Given the description of an element on the screen output the (x, y) to click on. 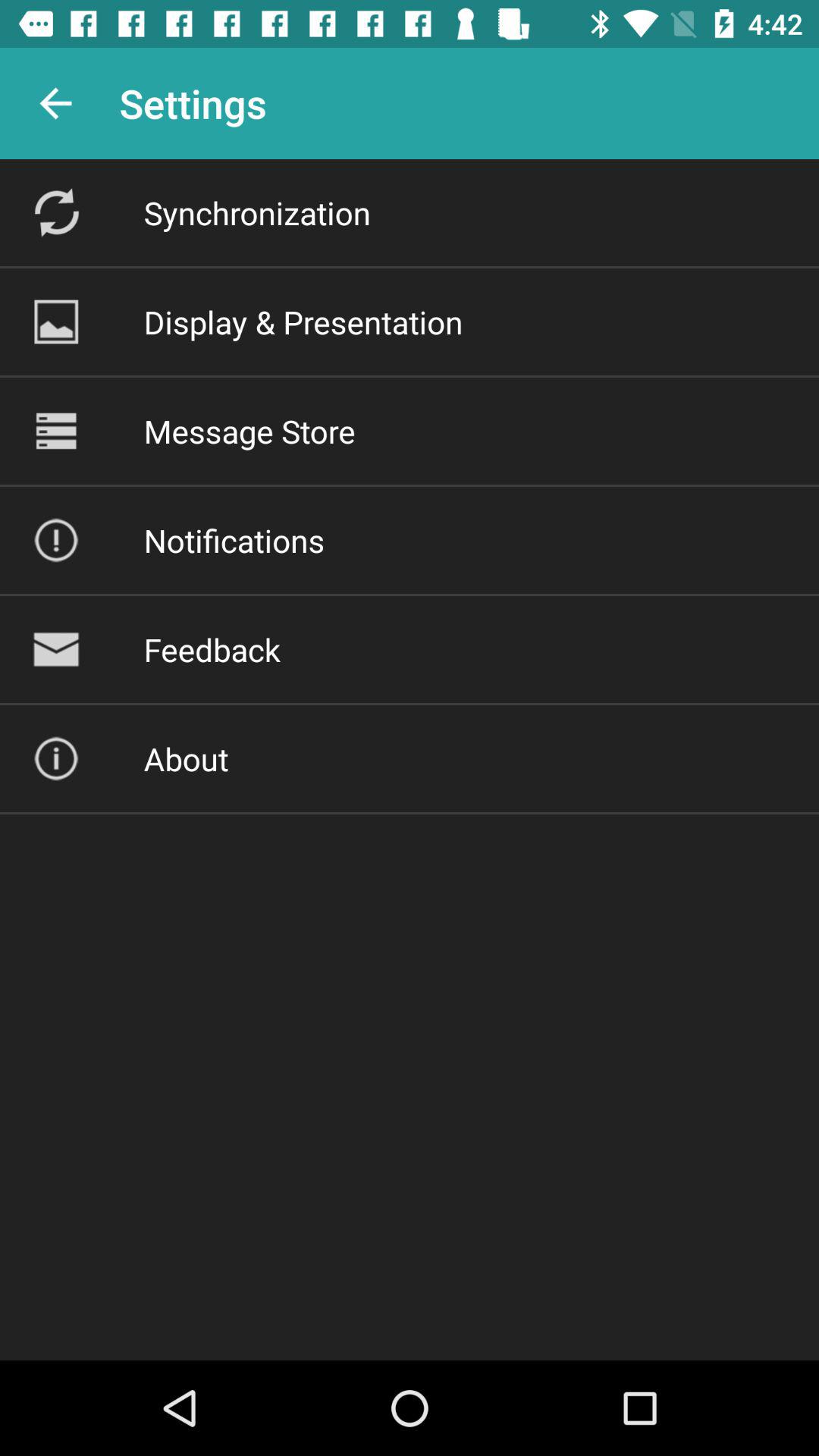
turn off the item above display & presentation item (256, 212)
